Given the description of an element on the screen output the (x, y) to click on. 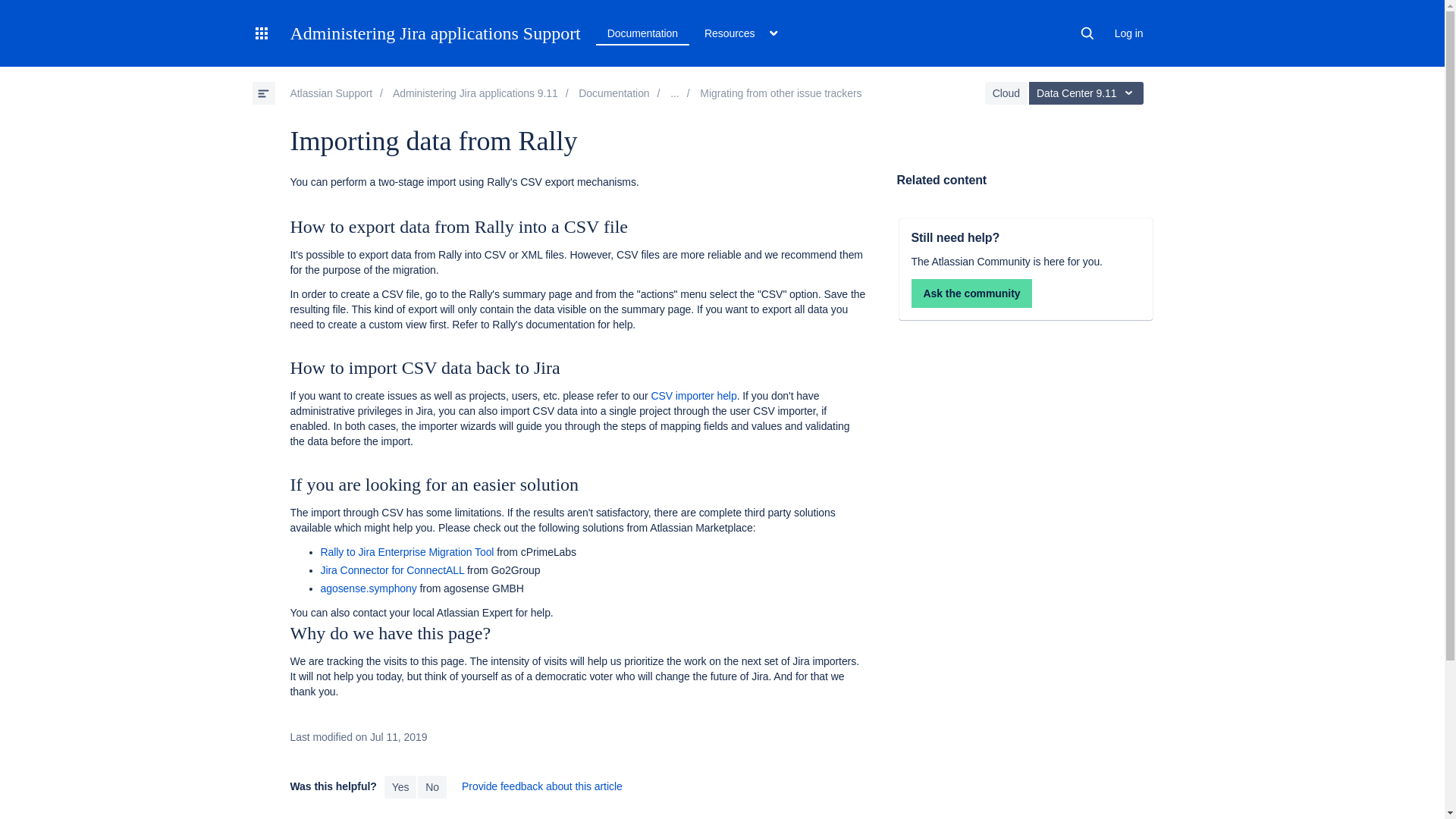
Administering Jira applications 9.11 (613, 92)
Log in (1128, 33)
Atlassian Support (330, 92)
Administering Jira applications (475, 92)
Administering Jira applications Support (434, 33)
Migrating from other issue trackers (780, 92)
Documentation (642, 33)
Search (1087, 33)
